Given the description of an element on the screen output the (x, y) to click on. 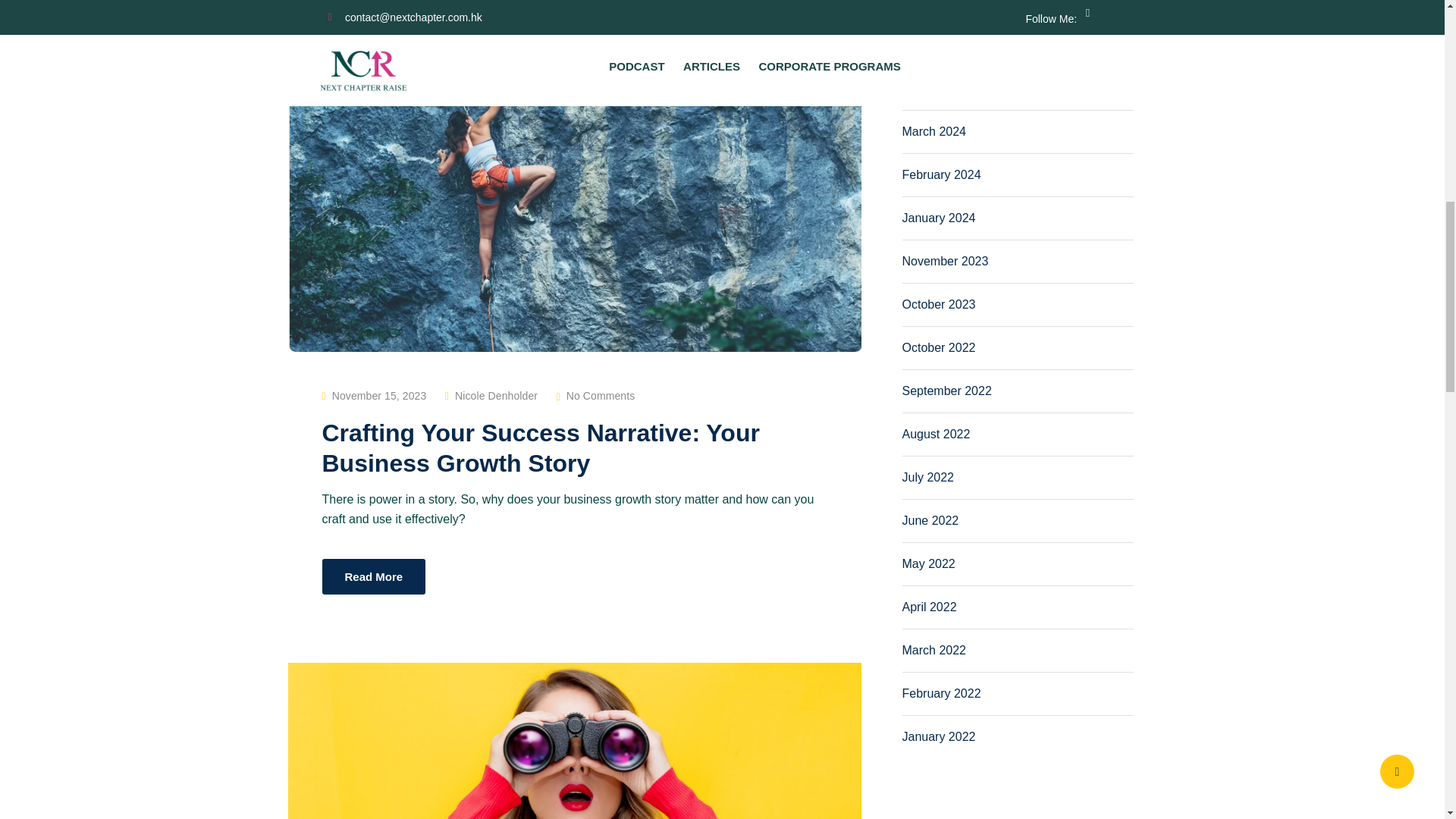
February 2024 (941, 174)
March 2024 (934, 131)
January 2024 (938, 217)
Crafting Your Success Narrative: Your Business Growth Story (539, 447)
November 15, 2023 (378, 395)
April 2024 (929, 88)
Read More (373, 576)
No Comments (600, 395)
May 2024 (928, 44)
Nicole Denholder (495, 395)
